Given the description of an element on the screen output the (x, y) to click on. 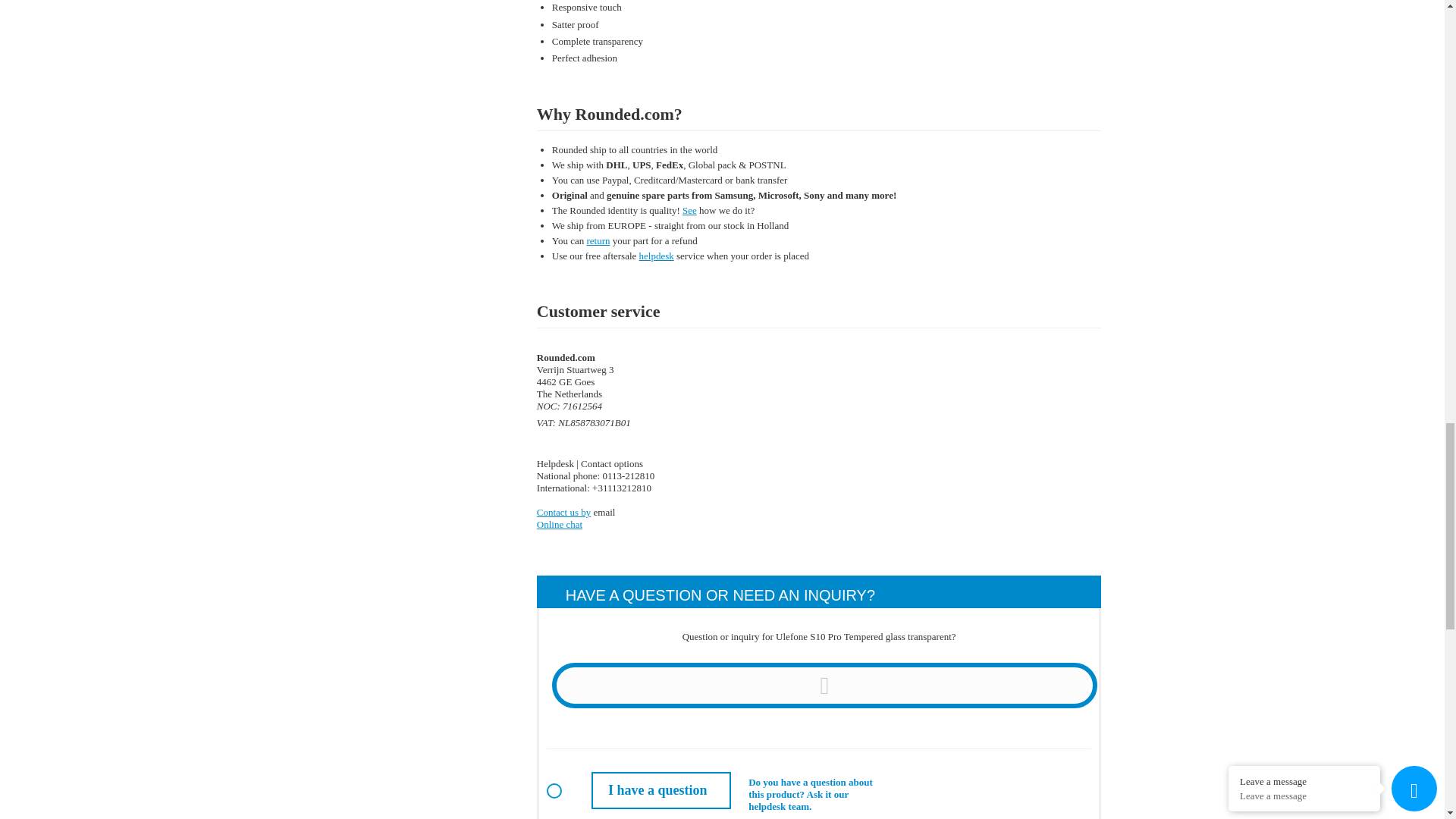
Video about Rounded.com (689, 210)
